Given the description of an element on the screen output the (x, y) to click on. 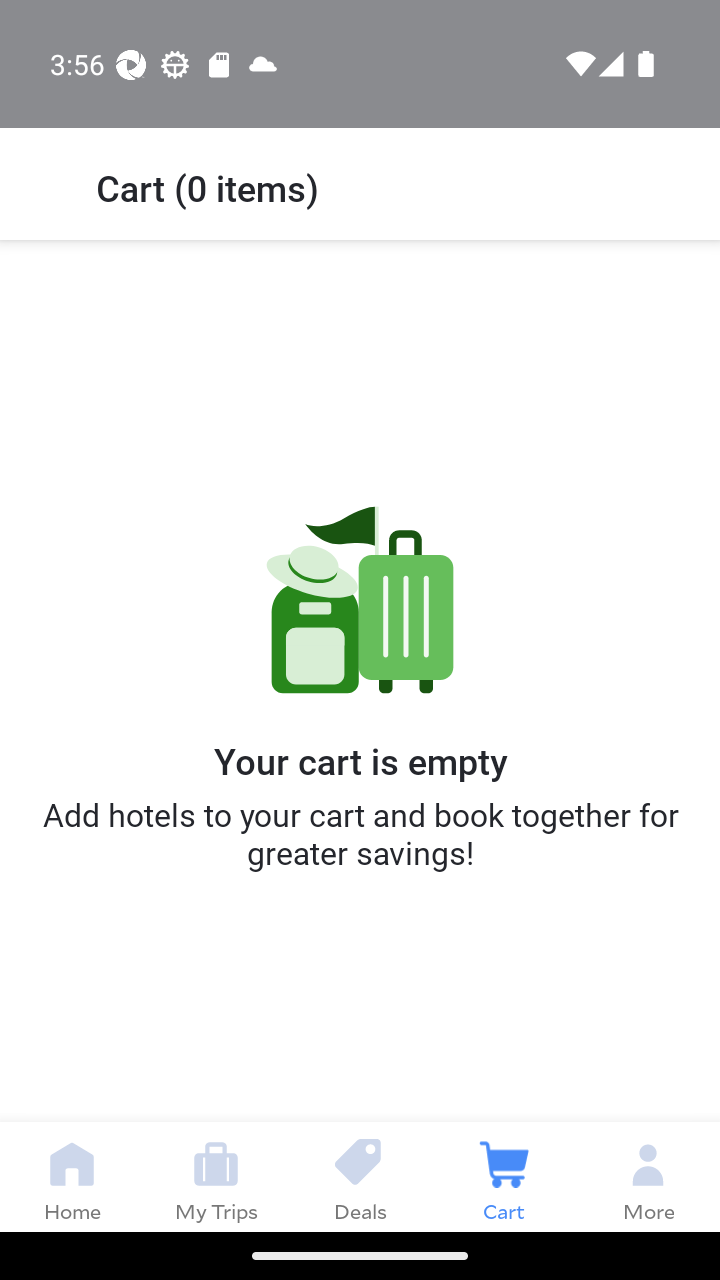
Home (72, 1176)
My Trips (216, 1176)
Deals (360, 1176)
Cart (504, 1176)
More (648, 1176)
